Given the description of an element on the screen output the (x, y) to click on. 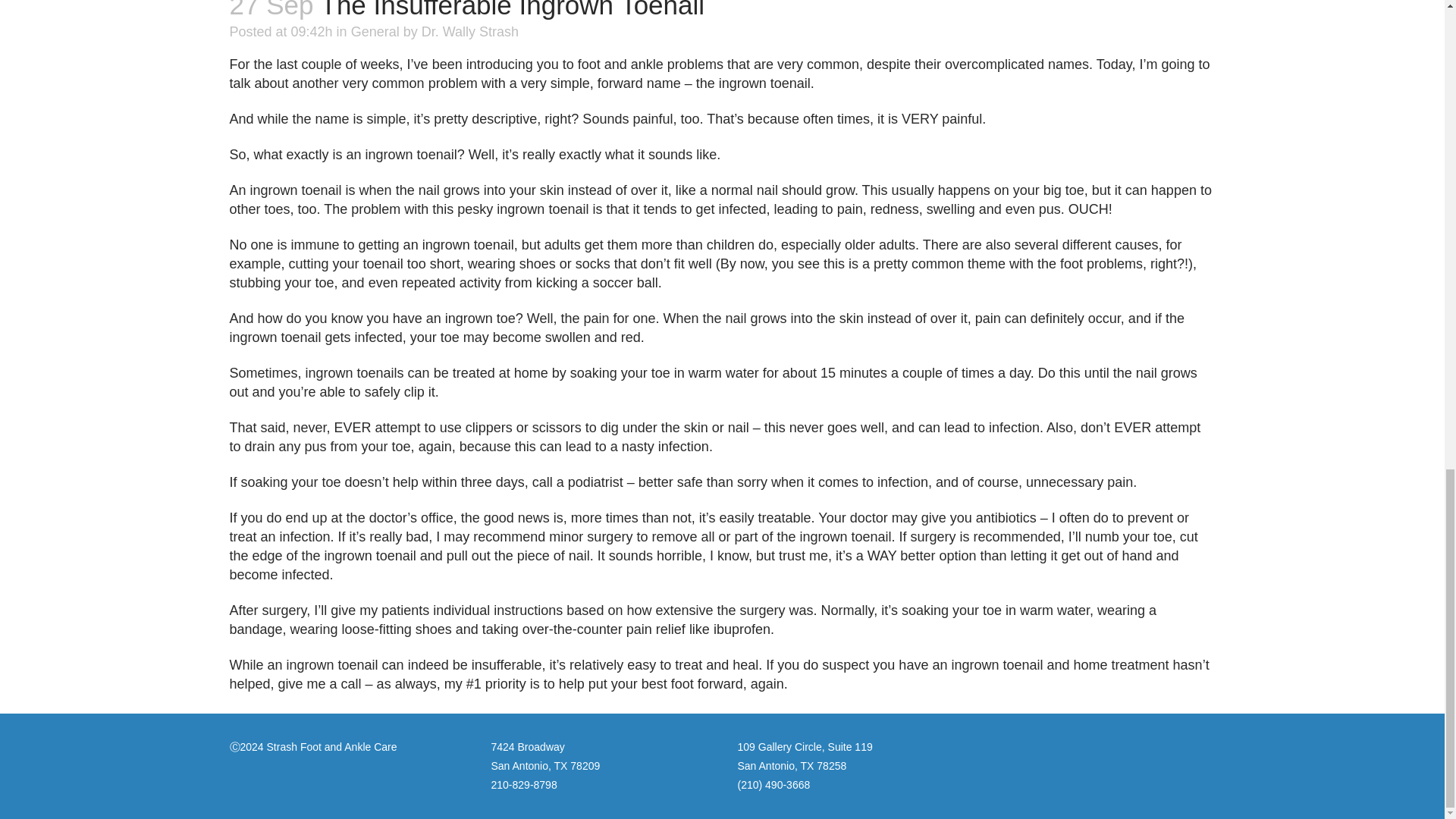
General (374, 31)
Dr. Wally Strash (470, 31)
210-829-8798 (524, 784)
